Given the description of an element on the screen output the (x, y) to click on. 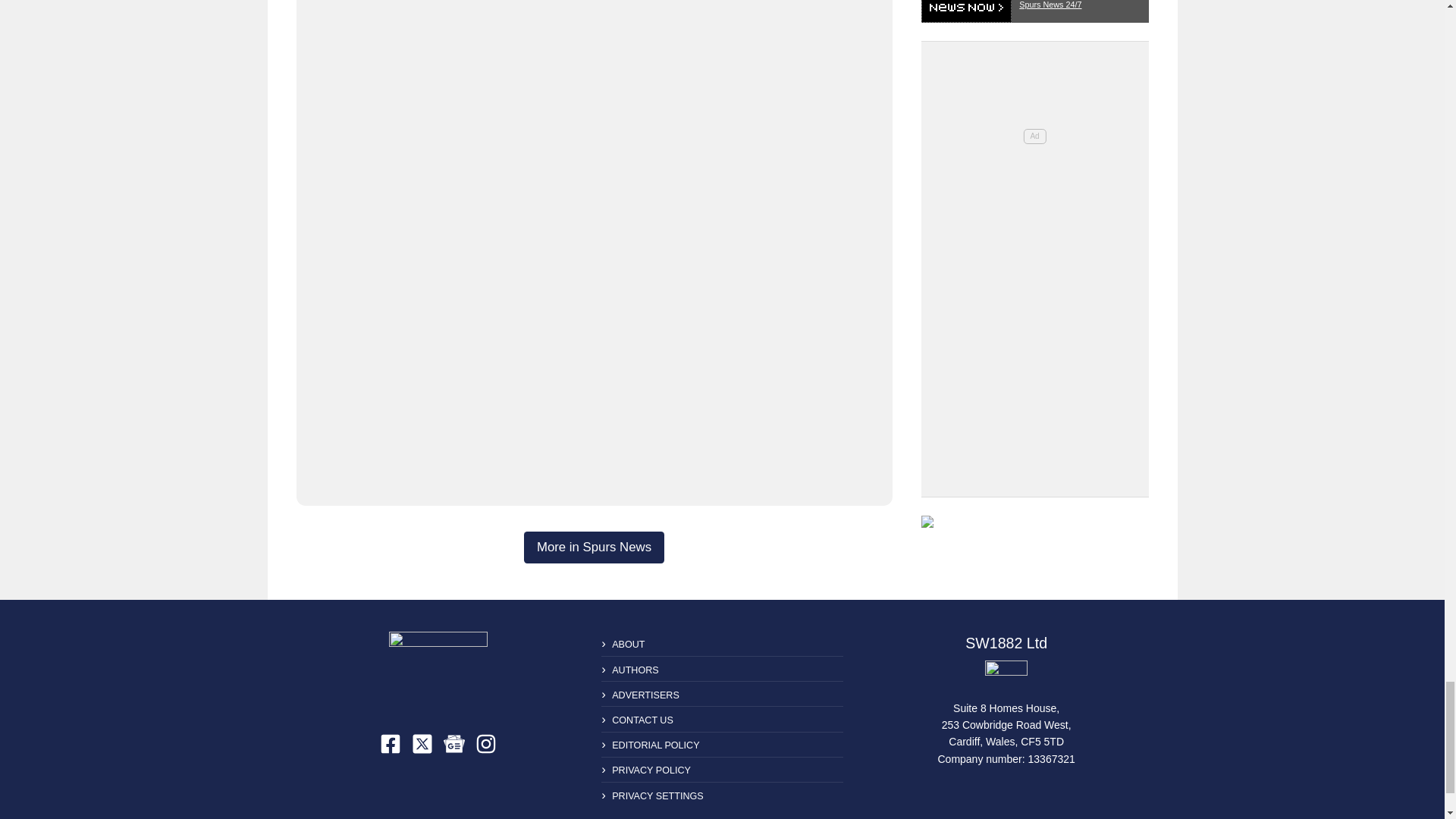
The Spurs Web - Tottenham Hotspur Football News on Instagram (486, 743)
The Spurs Web - Tottenham Hotspur Football News on X (422, 743)
More in Spurs News (593, 547)
The Spurs Web - Tottenham Hotspur Football News on Facebook (390, 743)
The Spurs Web - Tottenham Hotspur Football News (438, 670)
Spurs Web (1005, 676)
